Given the description of an element on the screen output the (x, y) to click on. 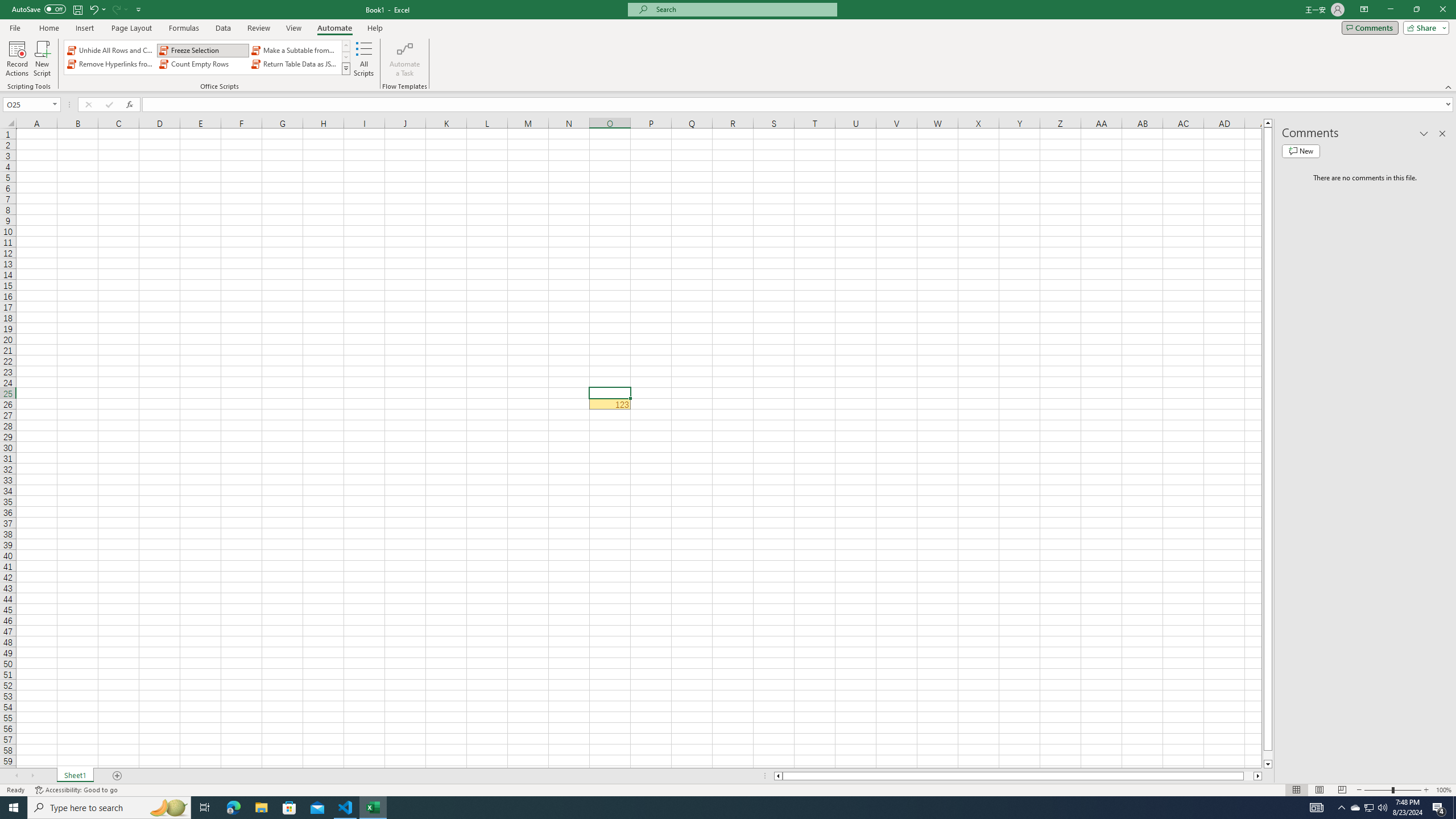
Automate a Task (404, 58)
Column right (1258, 775)
Data (223, 28)
Quick Access Toolbar (77, 9)
File Tab (15, 27)
Make a Subtable from a Selection (294, 50)
Row Down (346, 56)
Formula Bar (799, 104)
Add Sheet (117, 775)
Remove Hyperlinks from Sheet (111, 64)
Zoom Out (1377, 790)
Formulas (184, 28)
Automate (334, 28)
Close pane (1441, 133)
